Given the description of an element on the screen output the (x, y) to click on. 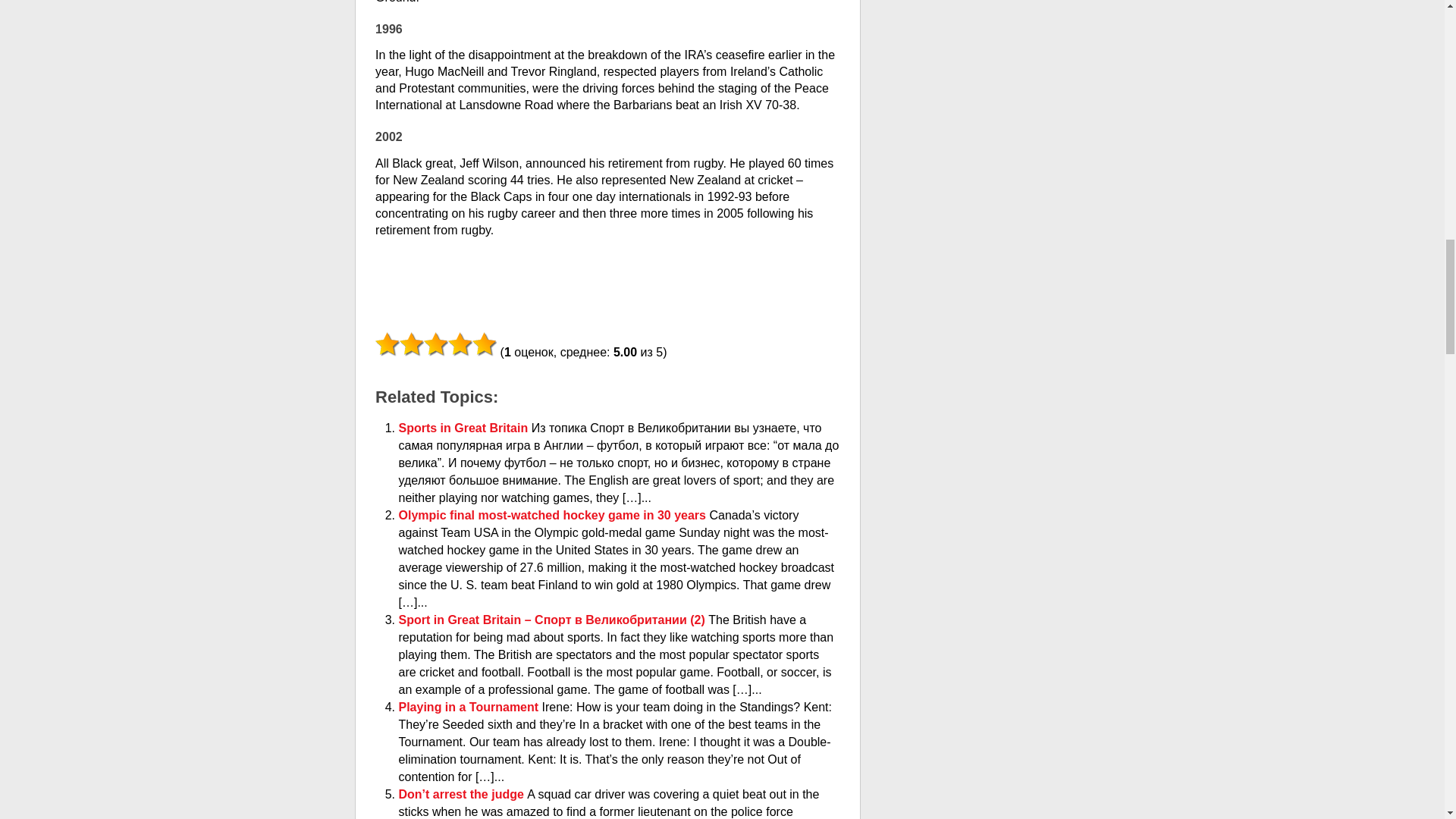
3 Stars (435, 344)
4 Stars (459, 344)
Sports in Great Britain (464, 427)
2 Stars (410, 344)
Sports in Great Britain (464, 427)
Playing in a Tournament (469, 707)
Olympic final most-watched hockey game in 30 years (554, 514)
1 Star (386, 344)
5 Stars (483, 344)
Olympic final most-watched hockey game in 30 years (554, 514)
Playing in a Tournament (469, 707)
